Given the description of an element on the screen output the (x, y) to click on. 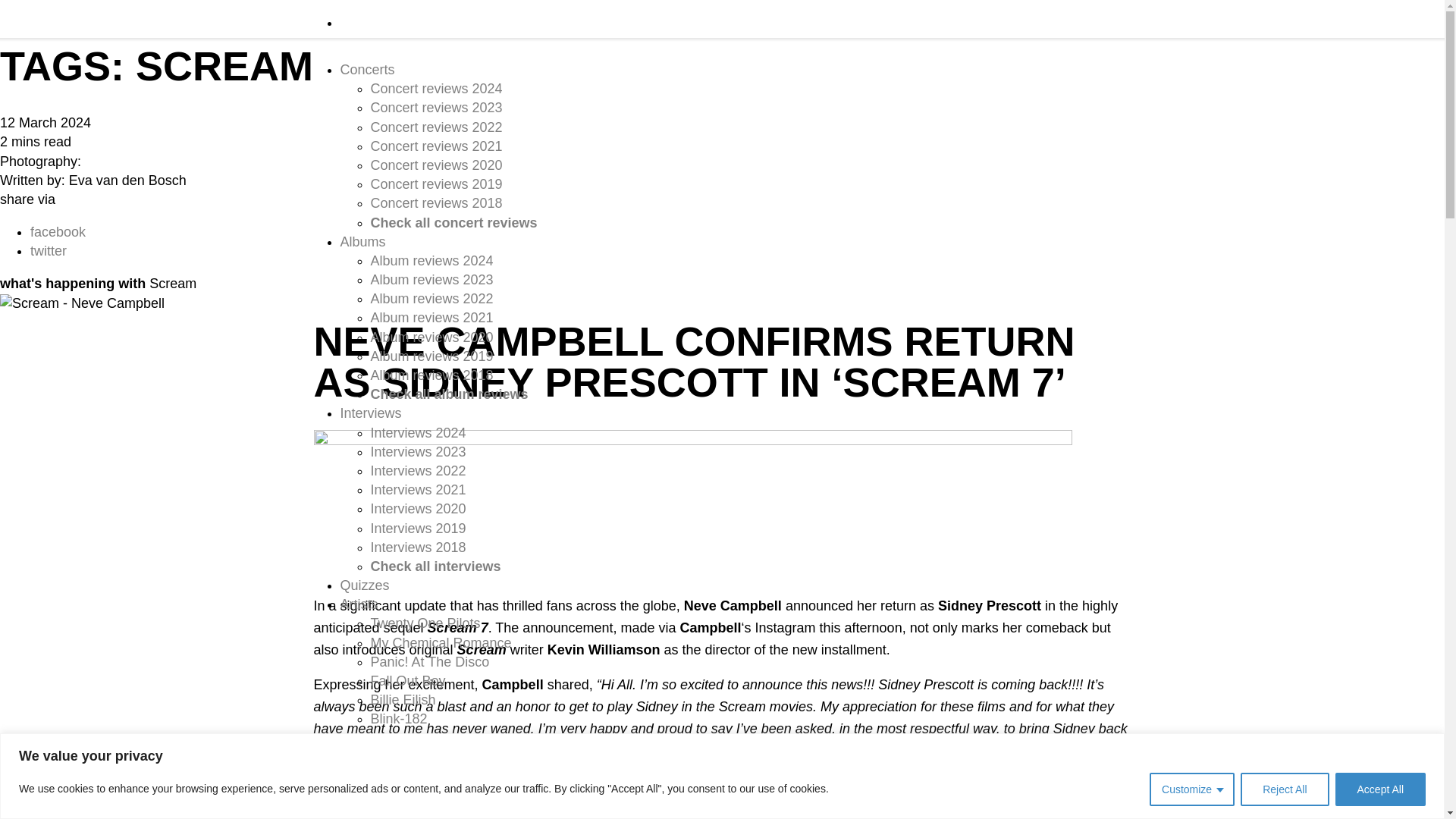
Concert reviews 2022 (435, 127)
Album reviews 2019 (431, 355)
Concert reviews 2019 (435, 183)
Album reviews 2020 (431, 337)
Concert reviews 2018 (435, 202)
Concert reviews 2020 (435, 165)
Interviews 2024 (417, 432)
Interviews 2022 (417, 470)
Album reviews 2018 (431, 375)
Concert reviews 2021 (435, 145)
